Given the description of an element on the screen output the (x, y) to click on. 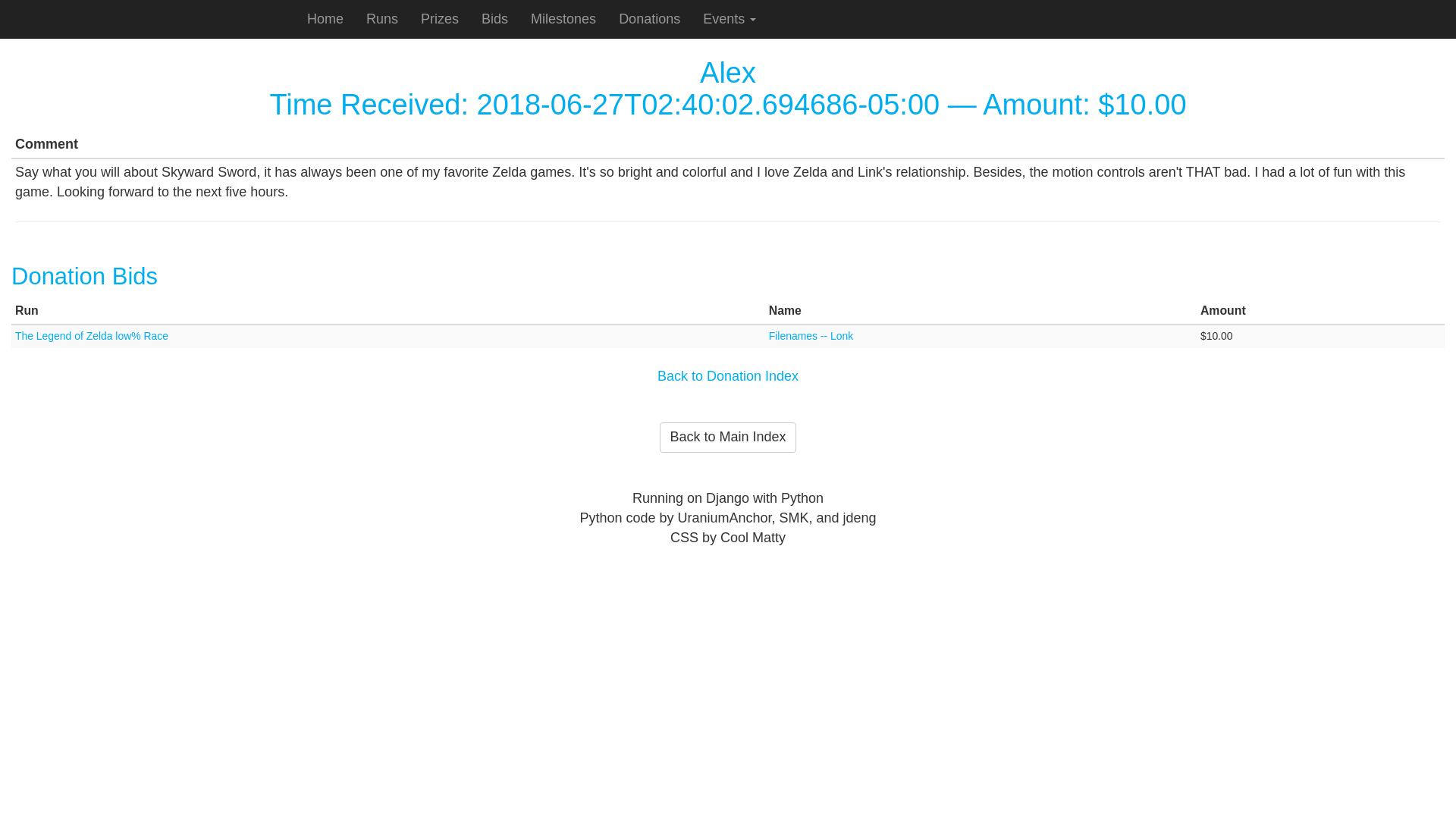
Events (729, 18)
Bids (494, 18)
Donations (649, 18)
Home (325, 18)
Prizes (439, 18)
Runs (382, 18)
Milestones (563, 18)
